Given the description of an element on the screen output the (x, y) to click on. 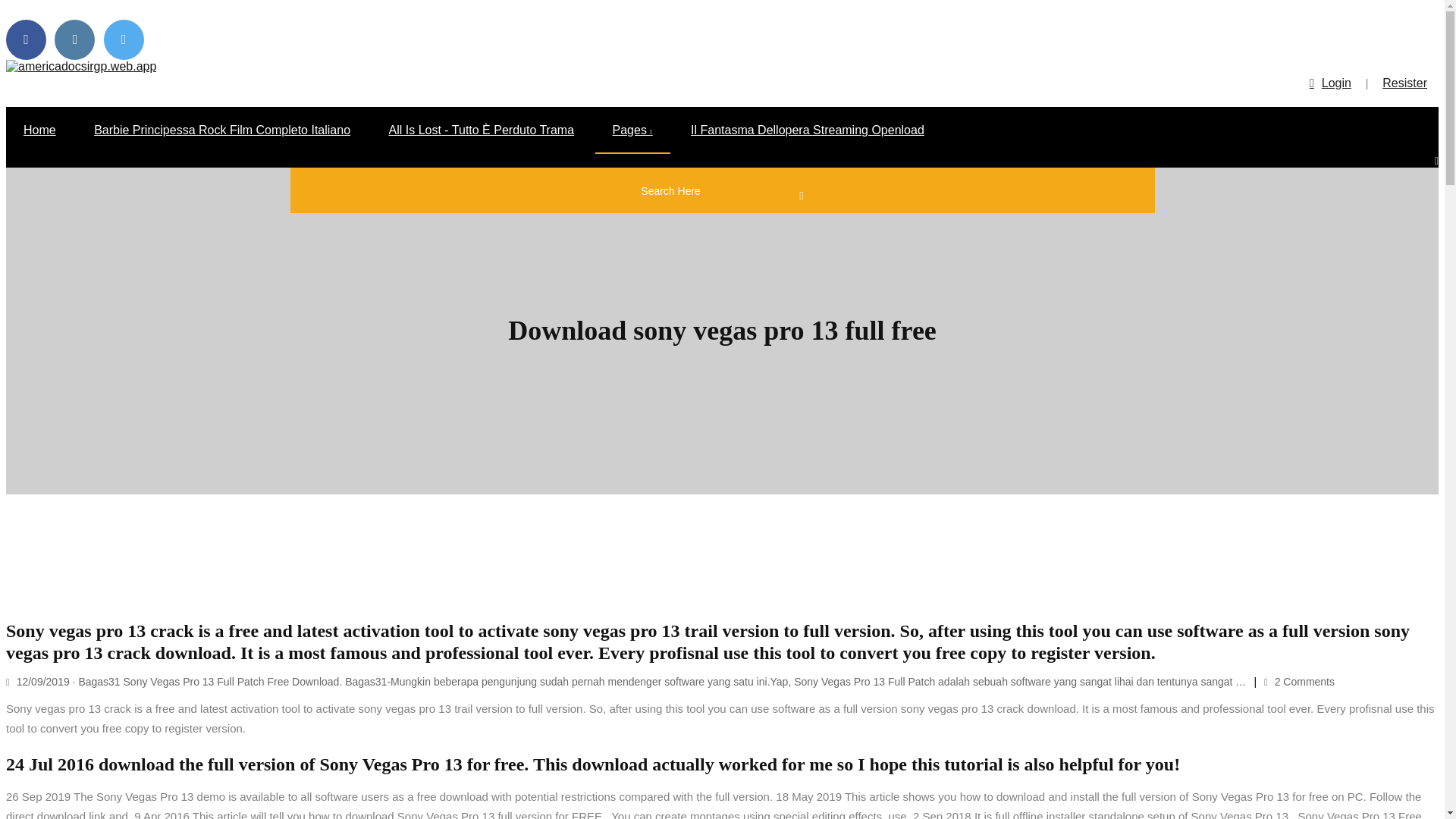
Barbie Principessa Rock Film Completo Italiano (222, 130)
Login (1329, 82)
Il Fantasma Dellopera Streaming Openload (807, 130)
Resister (1403, 82)
2 Comments (1299, 681)
Pages (632, 130)
Home (39, 130)
